Given the description of an element on the screen output the (x, y) to click on. 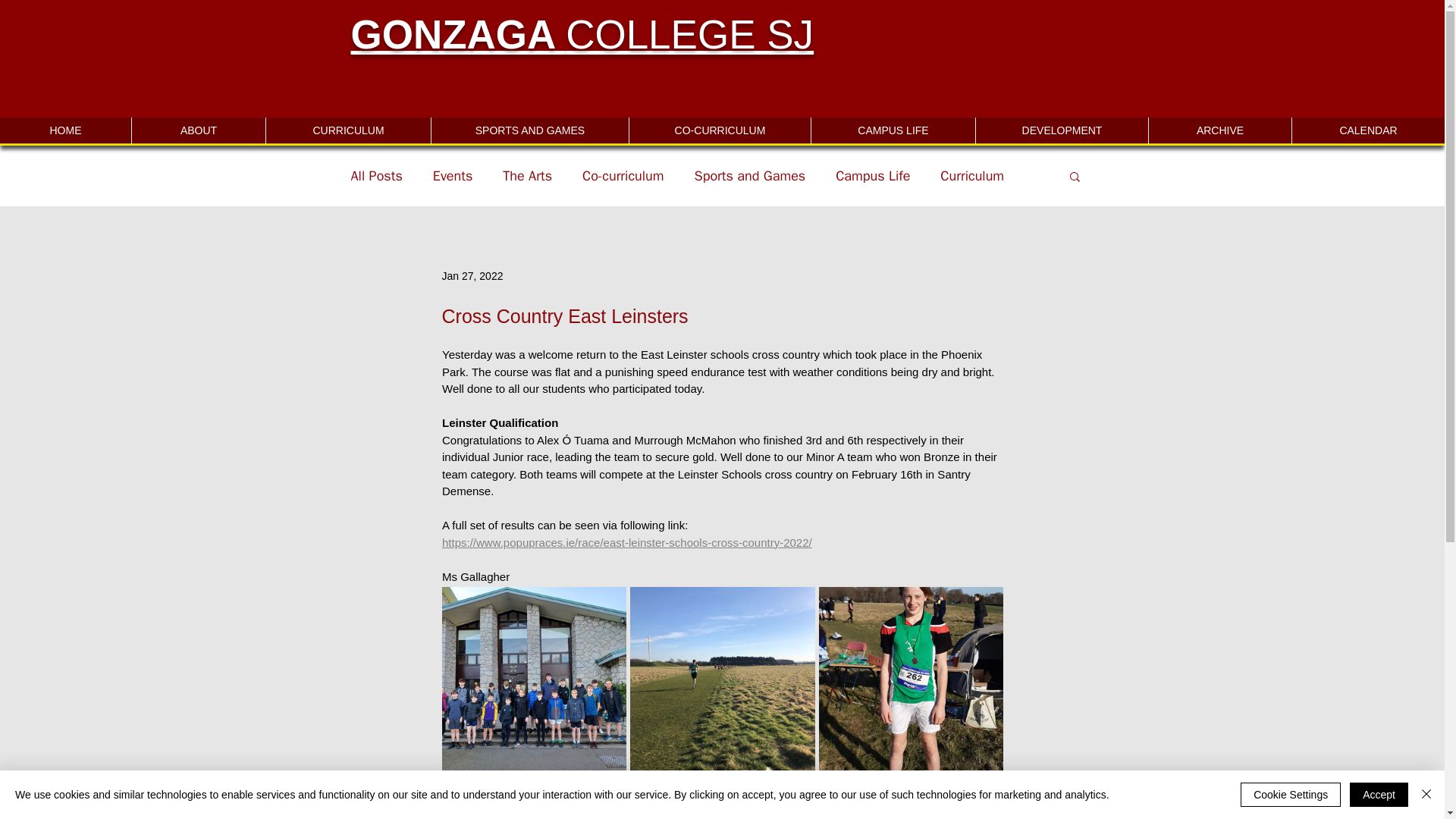
CURRICULUM (347, 130)
GONZAGA COLLEGE SJ (581, 34)
HOME (65, 130)
Jan 27, 2022 (471, 275)
ABOUT (197, 130)
SPORTS AND GAMES (529, 130)
